Given the description of an element on the screen output the (x, y) to click on. 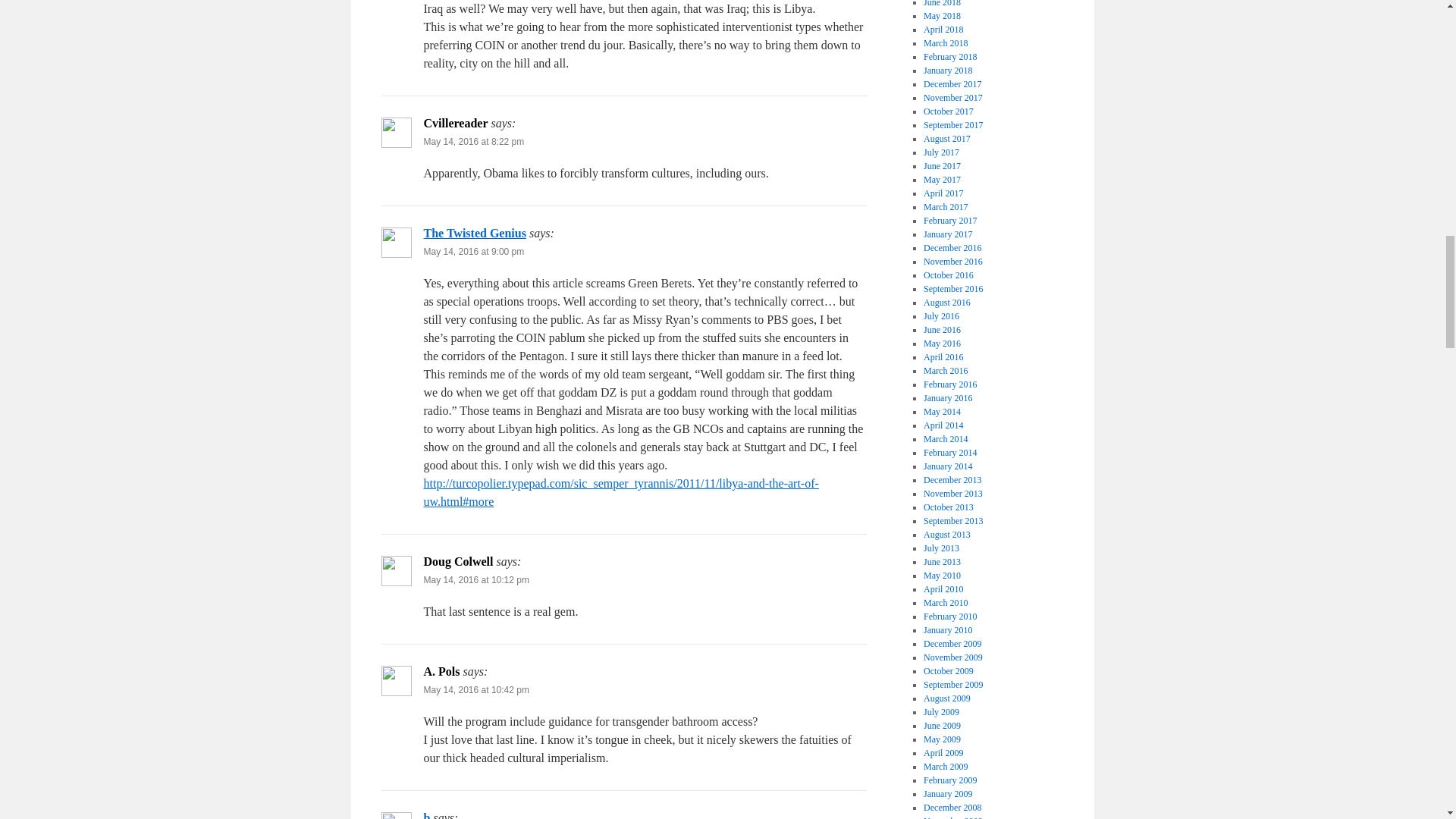
The Twisted Genius (474, 232)
May 14, 2016 at 10:12 pm (475, 579)
May 14, 2016 at 9:00 pm (473, 251)
May 14, 2016 at 8:22 pm (473, 141)
May 14, 2016 at 10:42 pm (475, 689)
b (426, 815)
